Given the description of an element on the screen output the (x, y) to click on. 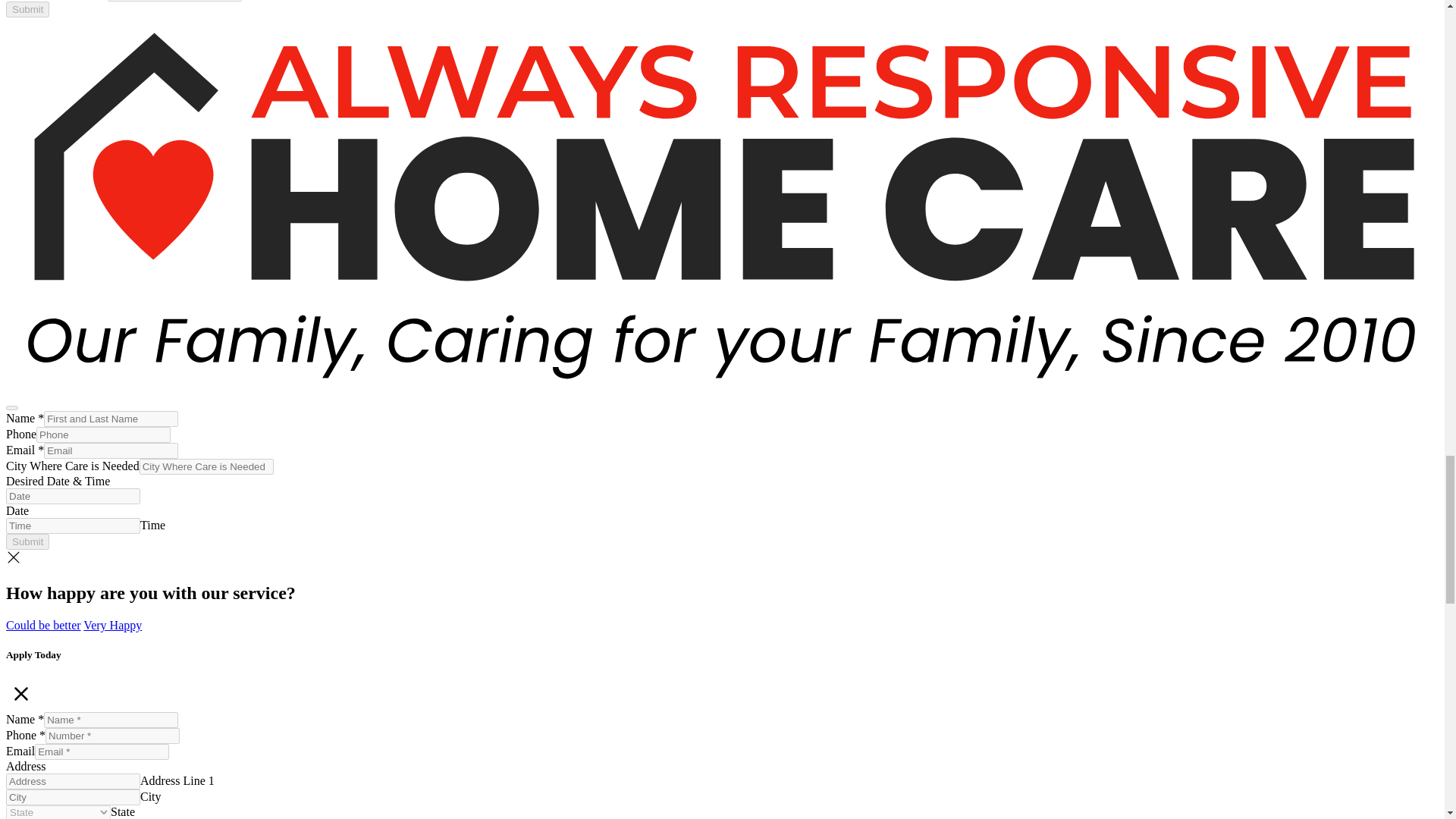
Submit (27, 541)
Submit (27, 9)
Could be better (43, 625)
Very Happy (111, 625)
